Given the description of an element on the screen output the (x, y) to click on. 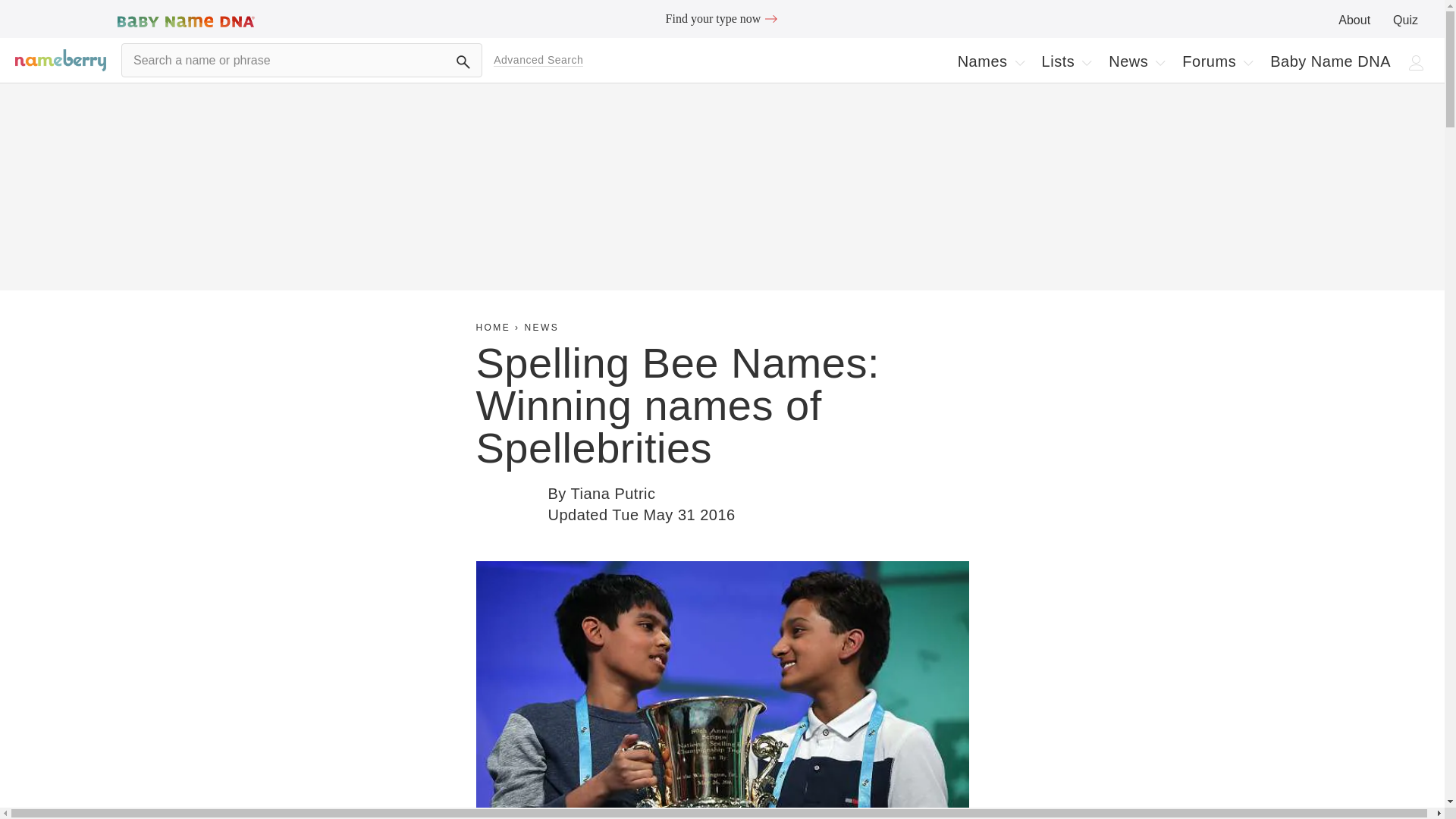
Advanced Search (538, 60)
Search (462, 61)
Chevron - Down (1160, 62)
Arrow Right (770, 18)
Chevron - Down (1216, 61)
NEWS (1066, 61)
Quiz (1019, 62)
Chevron - Down (721, 18)
About (1136, 61)
User (541, 327)
